Given the description of an element on the screen output the (x, y) to click on. 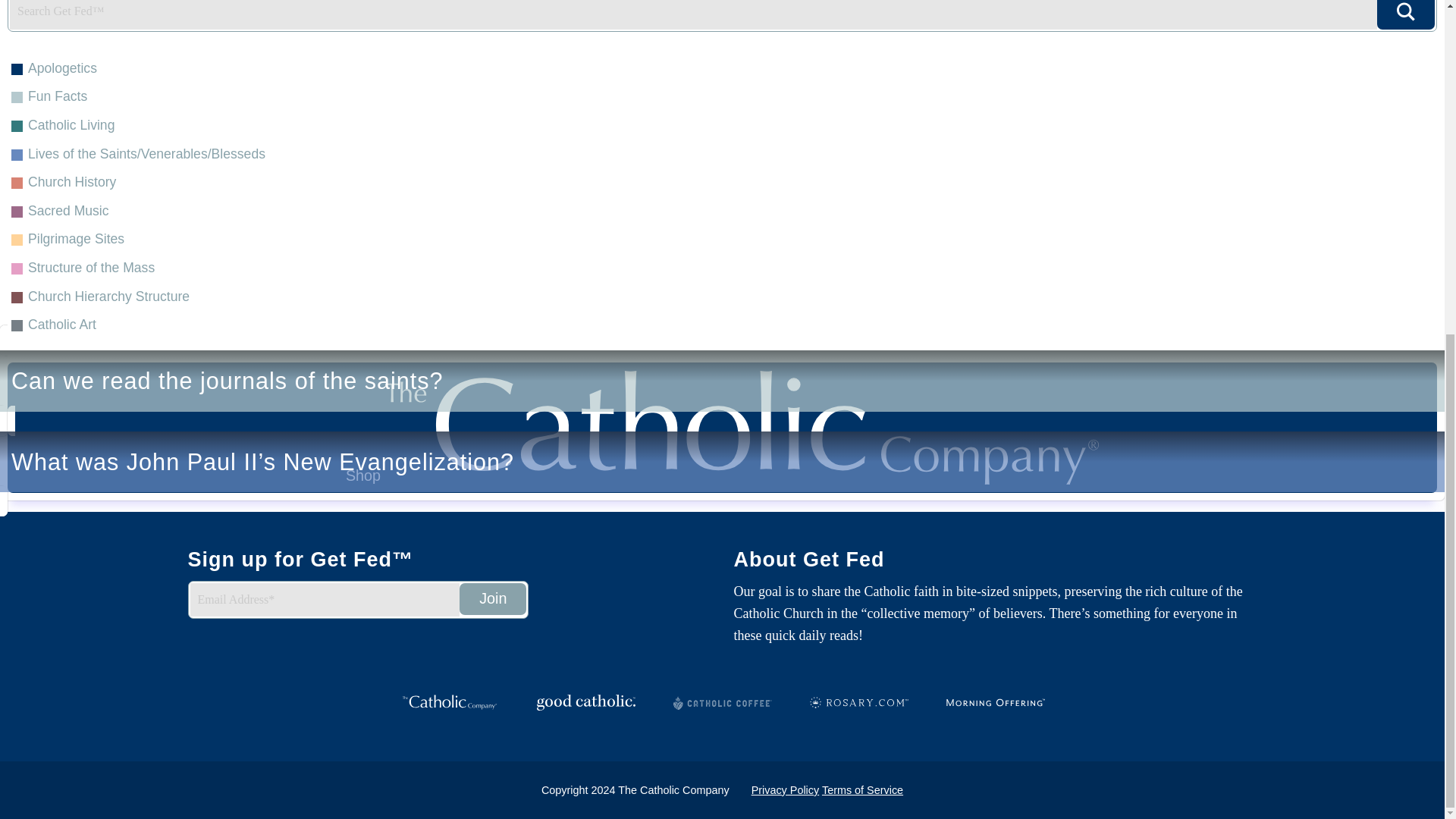
Join (492, 599)
Terms of Service (862, 789)
Pilgrimage Sites (722, 11)
Privacy Policy (785, 789)
Catholic Art (722, 94)
Church Hierarchy Structure (722, 65)
Join (492, 599)
Structure of the Mass (722, 37)
